Given the description of an element on the screen output the (x, y) to click on. 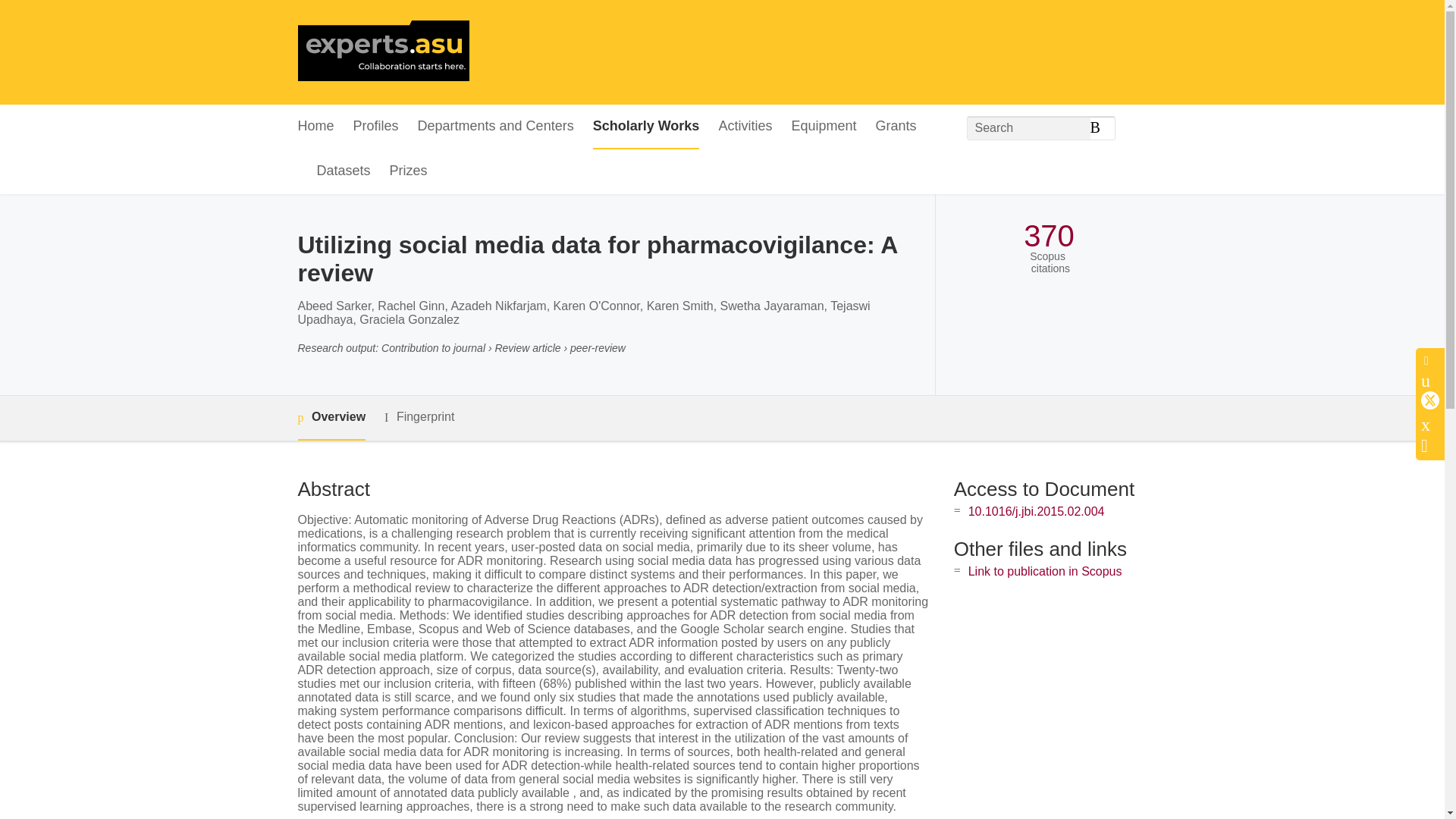
Equipment (823, 126)
Arizona State University Home (382, 52)
Datasets (344, 171)
Departments and Centers (495, 126)
Fingerprint (419, 416)
Scholarly Works (646, 126)
Overview (331, 417)
370 (1048, 235)
Profiles (375, 126)
